Given the description of an element on the screen output the (x, y) to click on. 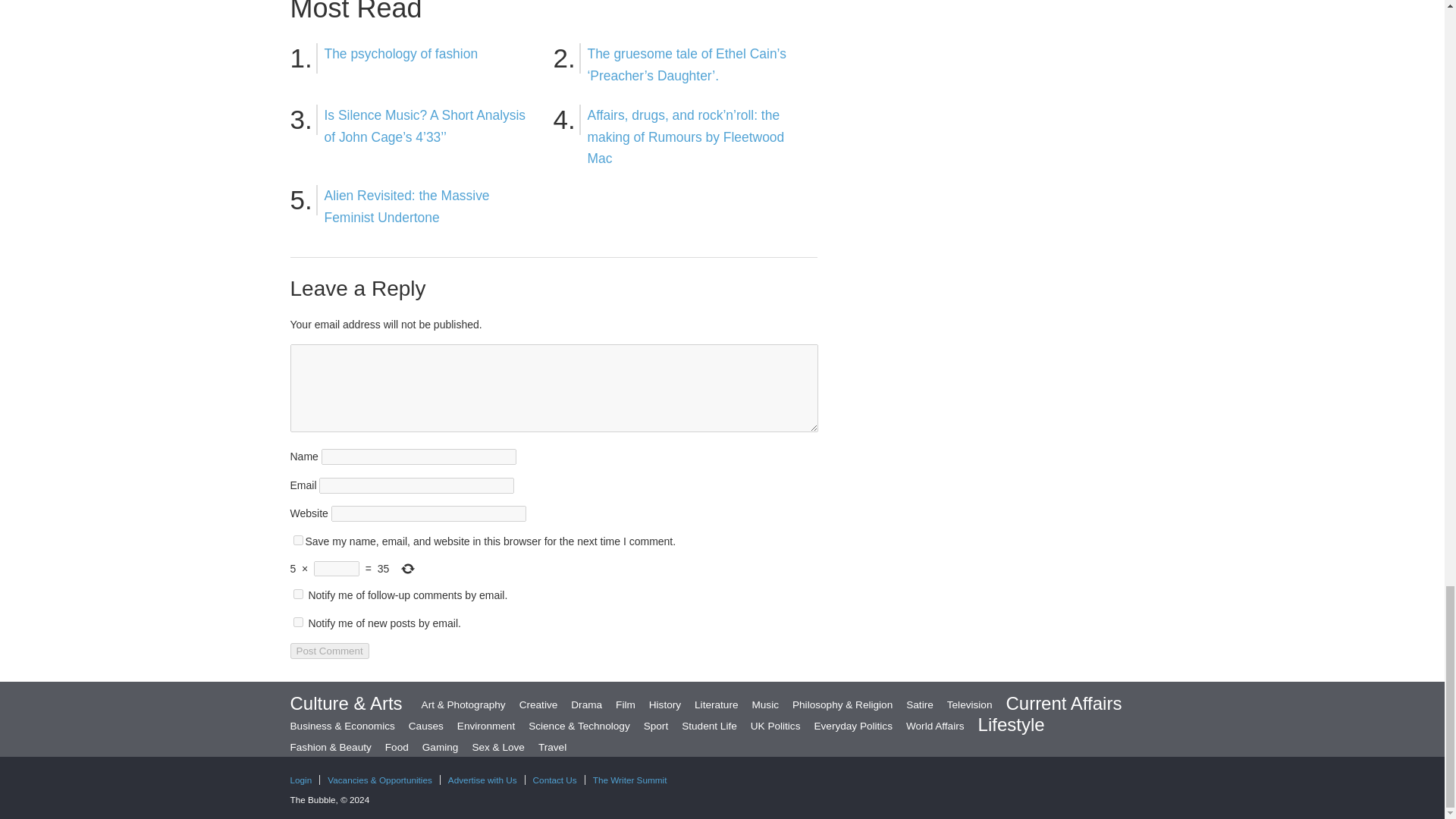
subscribe (297, 622)
Alien Revisited: the Massive Feminist Undertone (406, 206)
Post Comment (328, 650)
The psychology of fashion (401, 53)
Post Comment (328, 650)
yes (297, 540)
Alien Revisited: the Massive Feminist Undertone (406, 206)
subscribe (297, 593)
The psychology of fashion (401, 53)
